Given the description of an element on the screen output the (x, y) to click on. 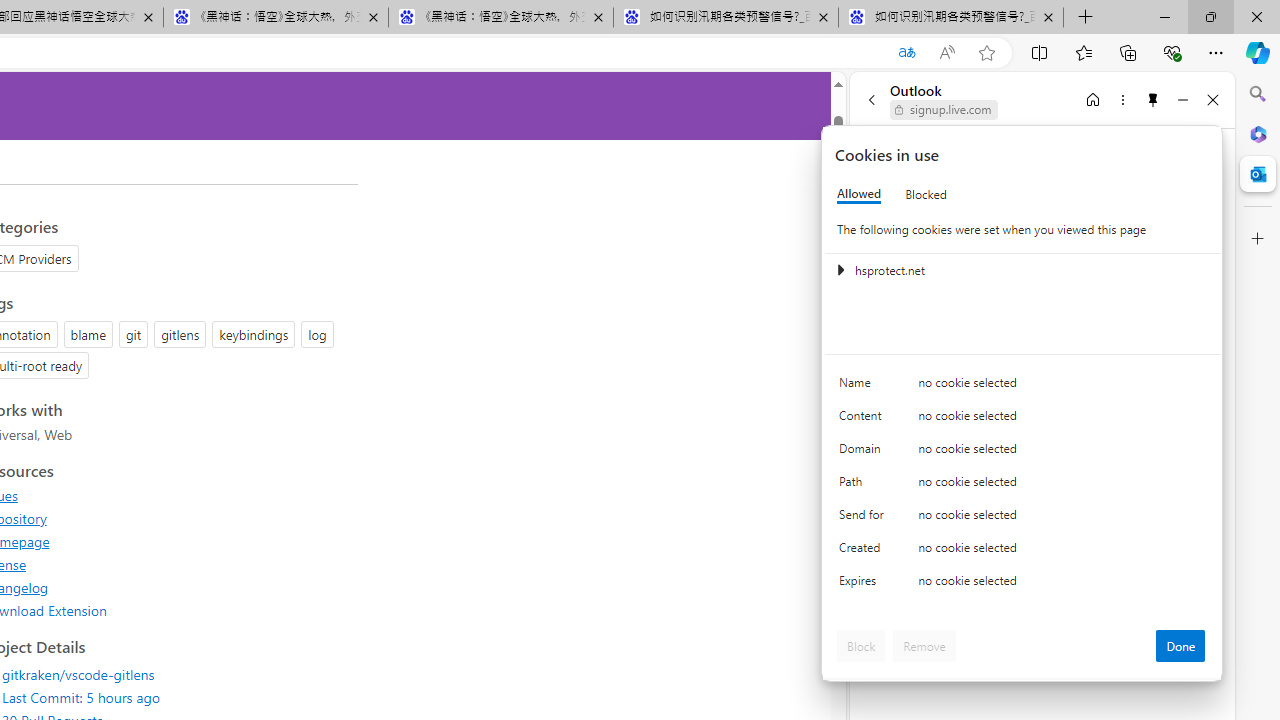
Blocked (925, 193)
Path (864, 485)
Remove (924, 645)
Class: c0153 c0157 (1023, 584)
Domain (864, 452)
Content (864, 420)
Class: c0153 c0157 c0154 (1023, 386)
Name (864, 387)
Block (861, 645)
Expires (864, 585)
no cookie selected (1062, 585)
Allowed (859, 193)
Created (864, 552)
Done (1179, 645)
Send for (864, 518)
